Given the description of an element on the screen output the (x, y) to click on. 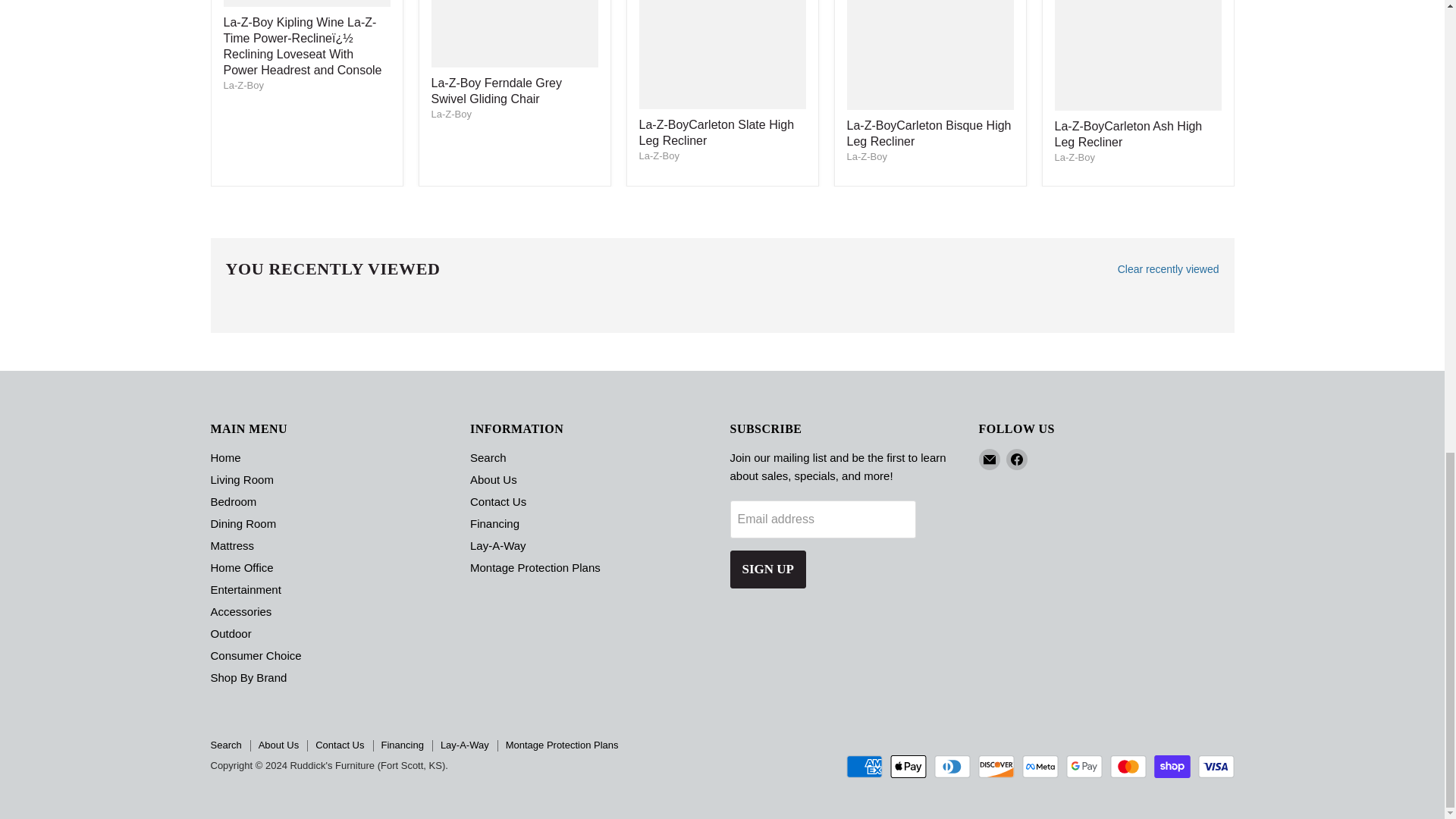
La-Z-Boy (242, 84)
La-Z-Boy (658, 155)
La-Z-Boy (1074, 156)
La-Z-Boy (865, 156)
Facebook (1016, 459)
Email (988, 459)
La-Z-Boy (450, 113)
